Given the description of an element on the screen output the (x, y) to click on. 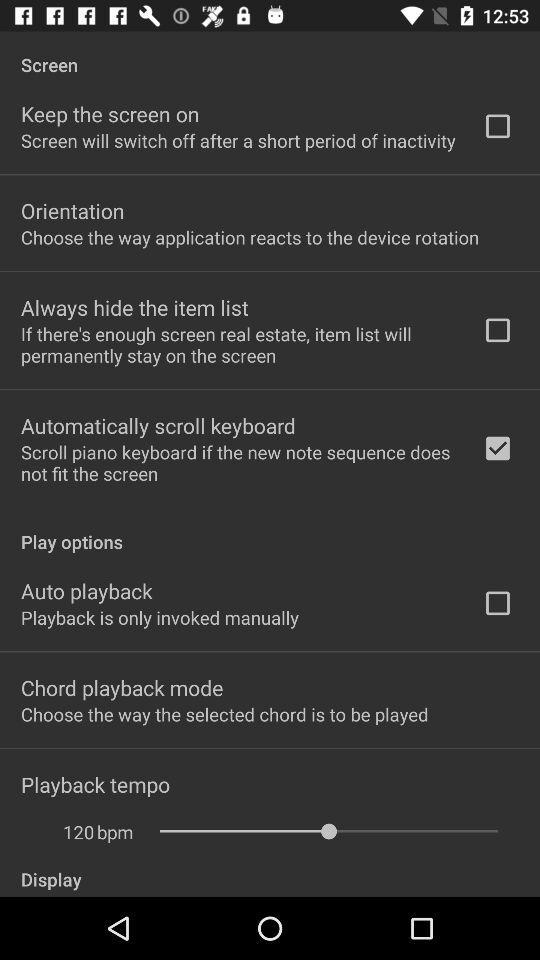
jump until the play options icon (270, 531)
